Given the description of an element on the screen output the (x, y) to click on. 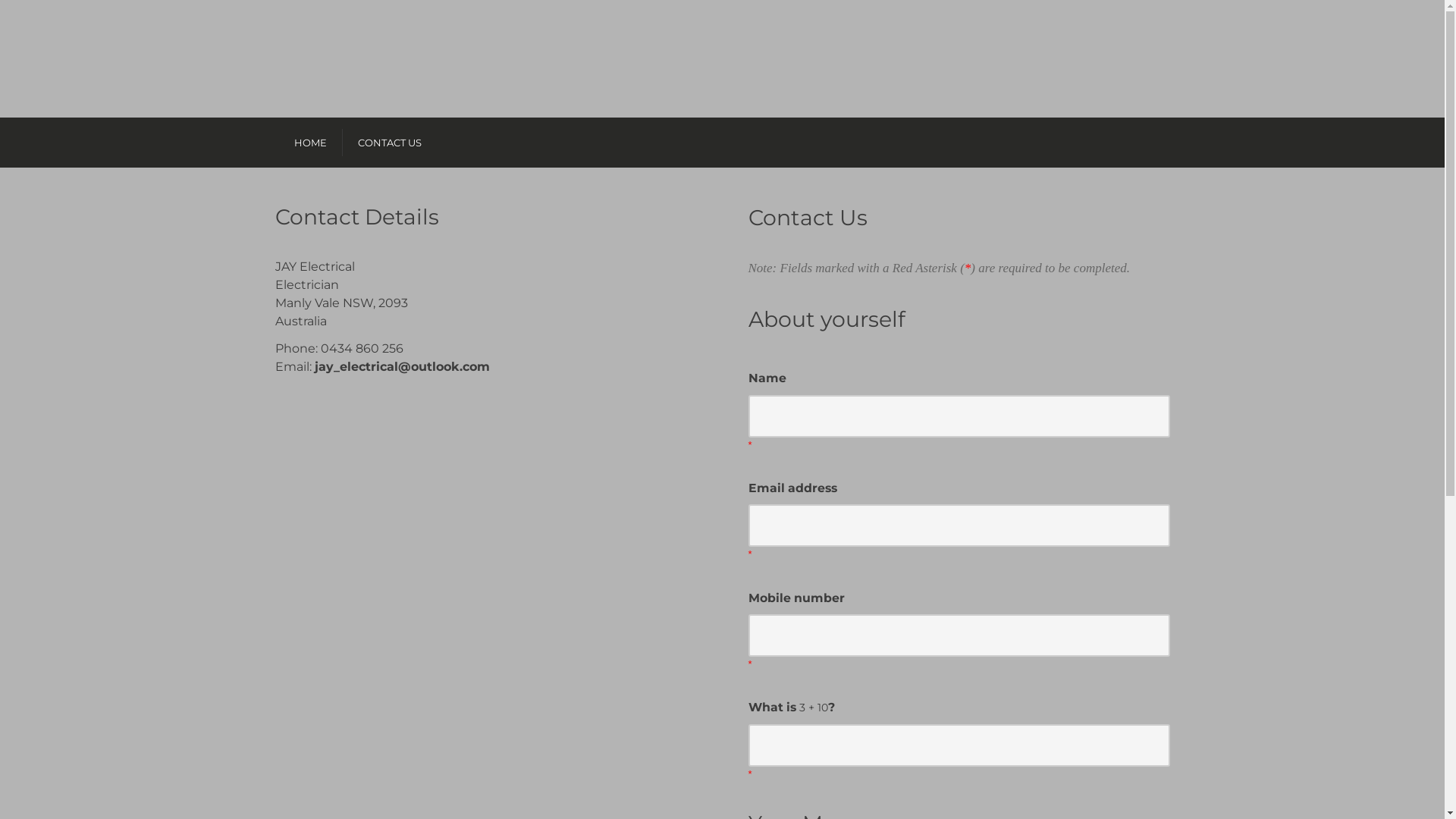
jay_electrical@outlook.com Element type: text (401, 366)
HOME Element type: text (310, 142)
Embedded Google map Element type: hover (425, 545)
CONTACT US Element type: text (389, 142)
